Given the description of an element on the screen output the (x, y) to click on. 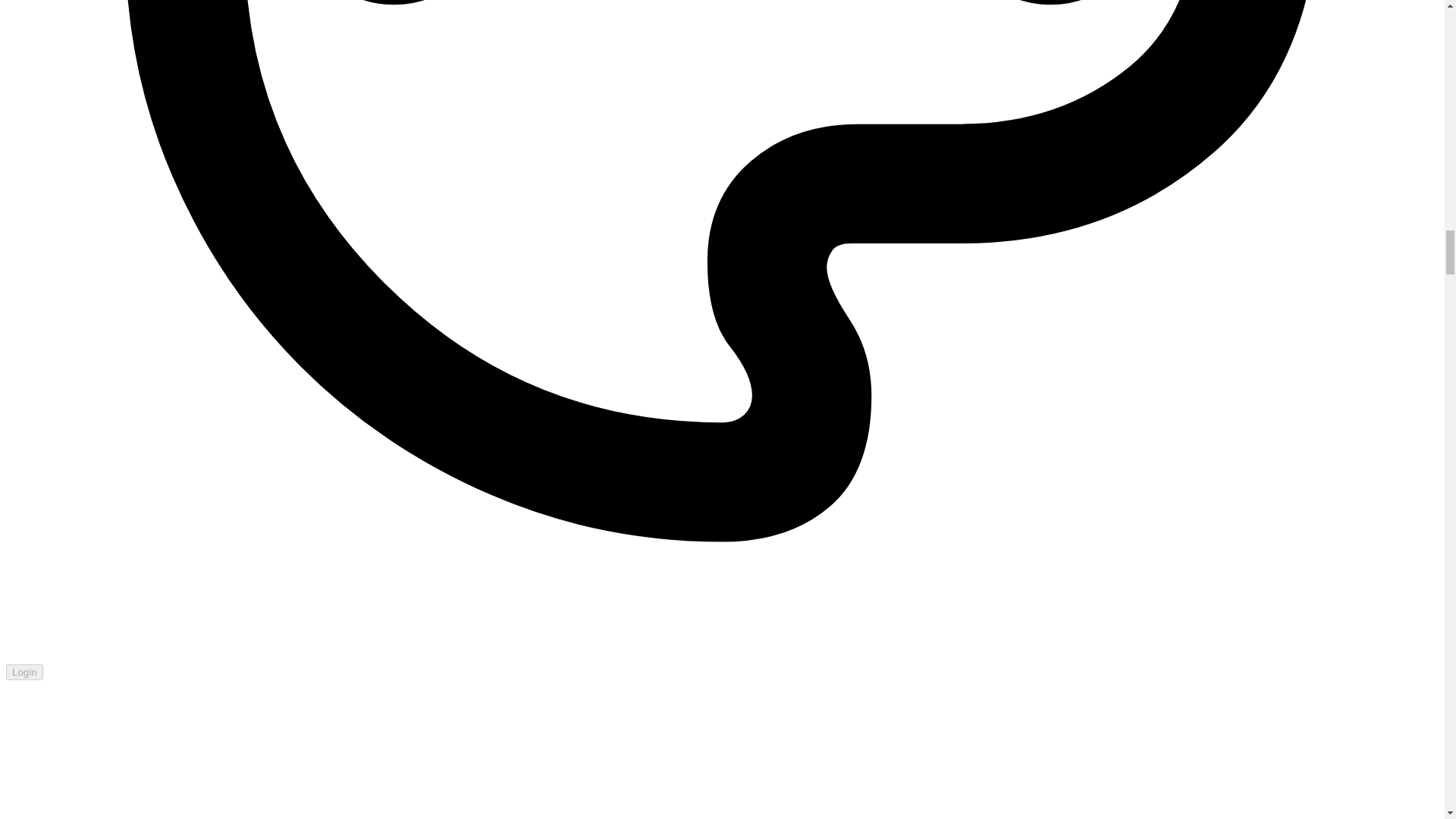
Login (24, 672)
